Given the description of an element on the screen output the (x, y) to click on. 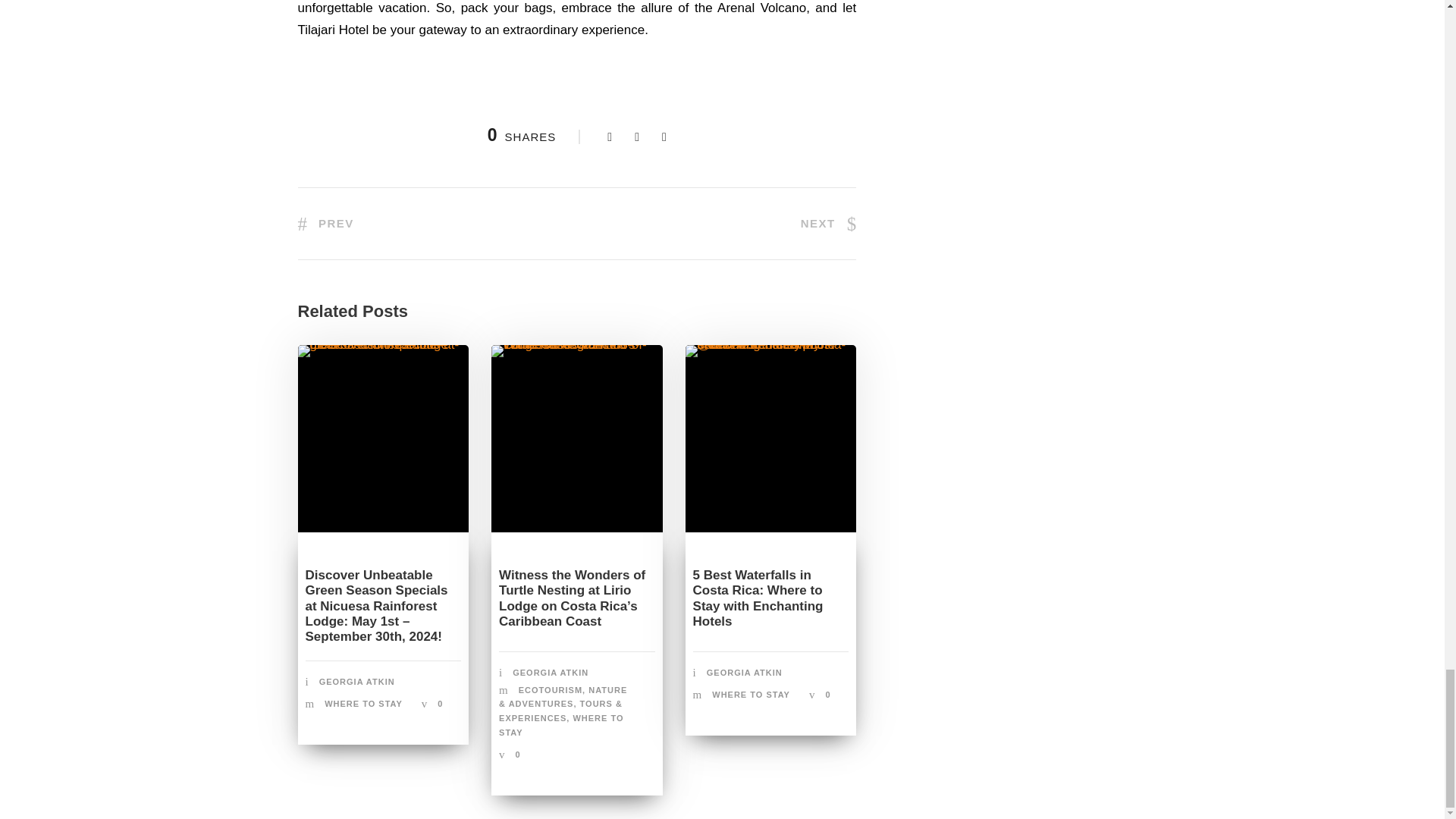
Posts by Georgia Atkin (744, 672)
WHERE TO STAY (363, 703)
playa nicuesa rainforest lodge (382, 350)
Posts by Georgia Atkin (550, 672)
NEXT (828, 223)
GEORGIA ATKIN (356, 681)
PREV (325, 223)
Posts by Georgia Atkin (356, 681)
Leatherback sea turtle, image by Sea Turtle Conservancy (577, 350)
